Given the description of an element on the screen output the (x, y) to click on. 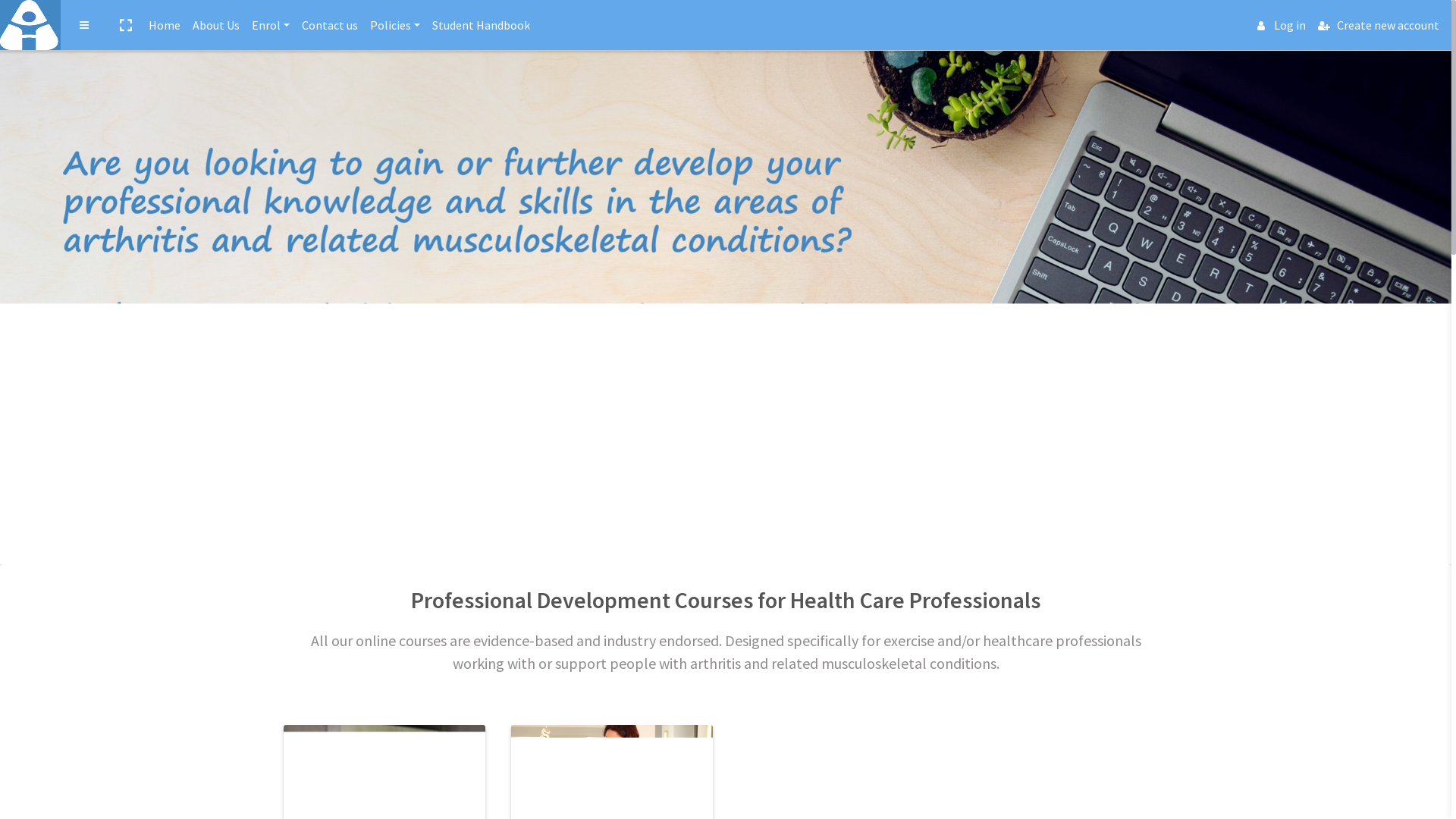
Contact us Element type: text (329, 25)
About Us Element type: text (215, 25)
Policies Element type: text (395, 25)
Log in Element type: text (1281, 25)
Toggle fullscreen Element type: hover (124, 25)
Student Handbook Element type: text (481, 25)
Create new account Element type: text (1378, 25)
Enrol Element type: text (270, 25)
Home Element type: text (164, 25)
Side panel Element type: text (83, 25)
